Given the description of an element on the screen output the (x, y) to click on. 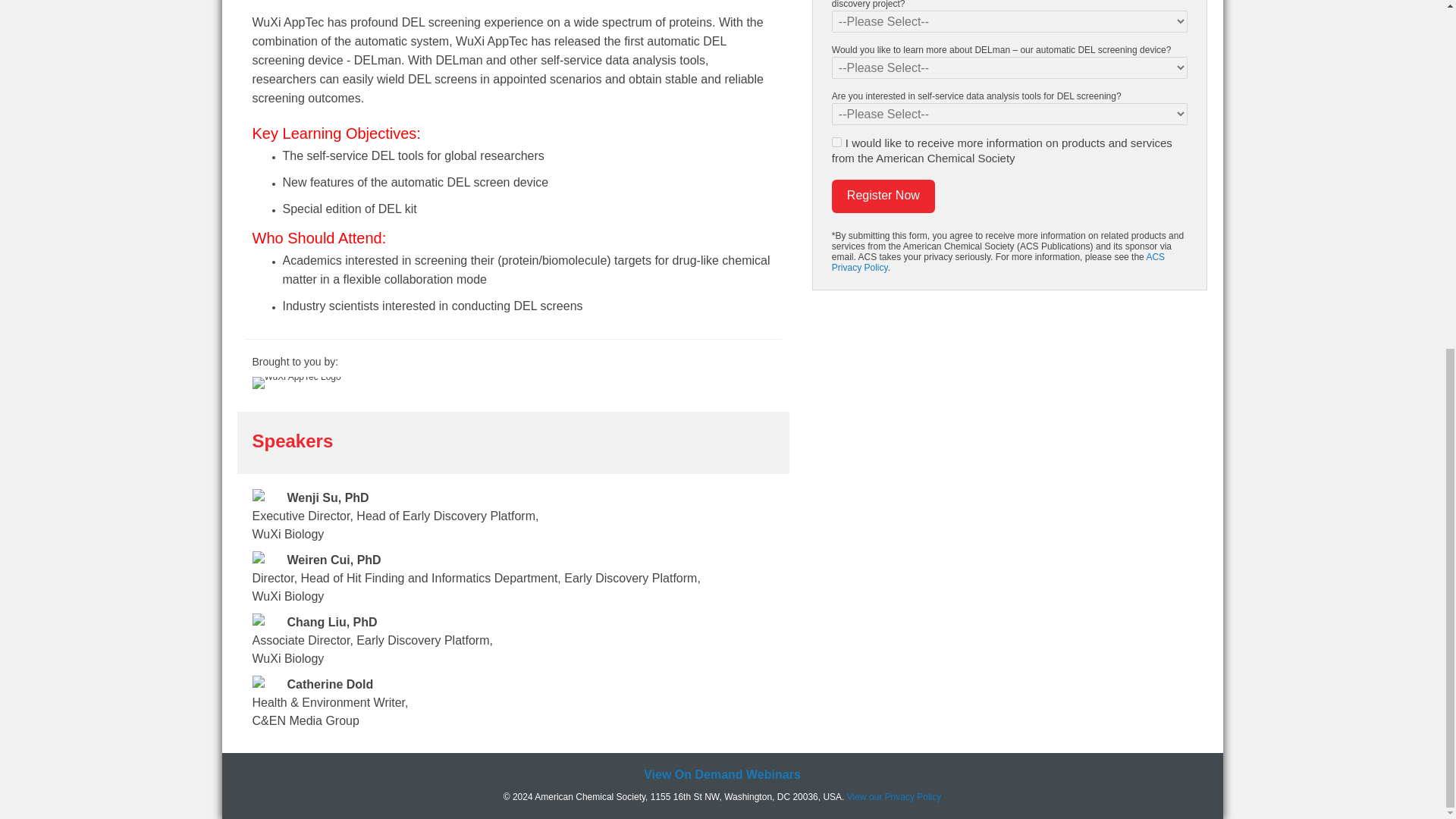
ACS Privacy Policy (997, 261)
View On Demand Webinars (721, 774)
Register Now (882, 195)
on (836, 142)
View our Privacy Policy (894, 796)
